Given the description of an element on the screen output the (x, y) to click on. 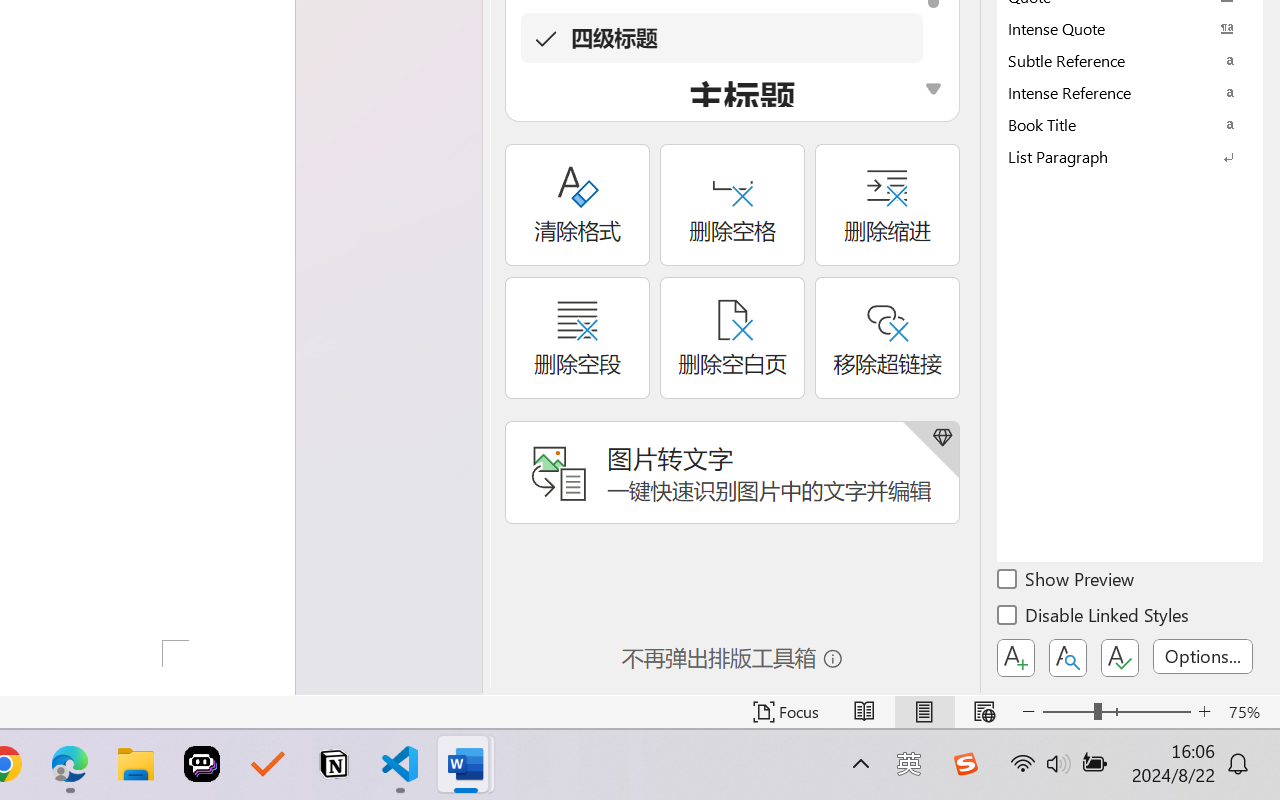
Book Title (1130, 124)
Focus  (786, 712)
Class: Image (965, 764)
Zoom (1116, 712)
Web Layout (984, 712)
List Paragraph (1130, 156)
Subtle Reference (1130, 60)
Print Layout (924, 712)
